Given the description of an element on the screen output the (x, y) to click on. 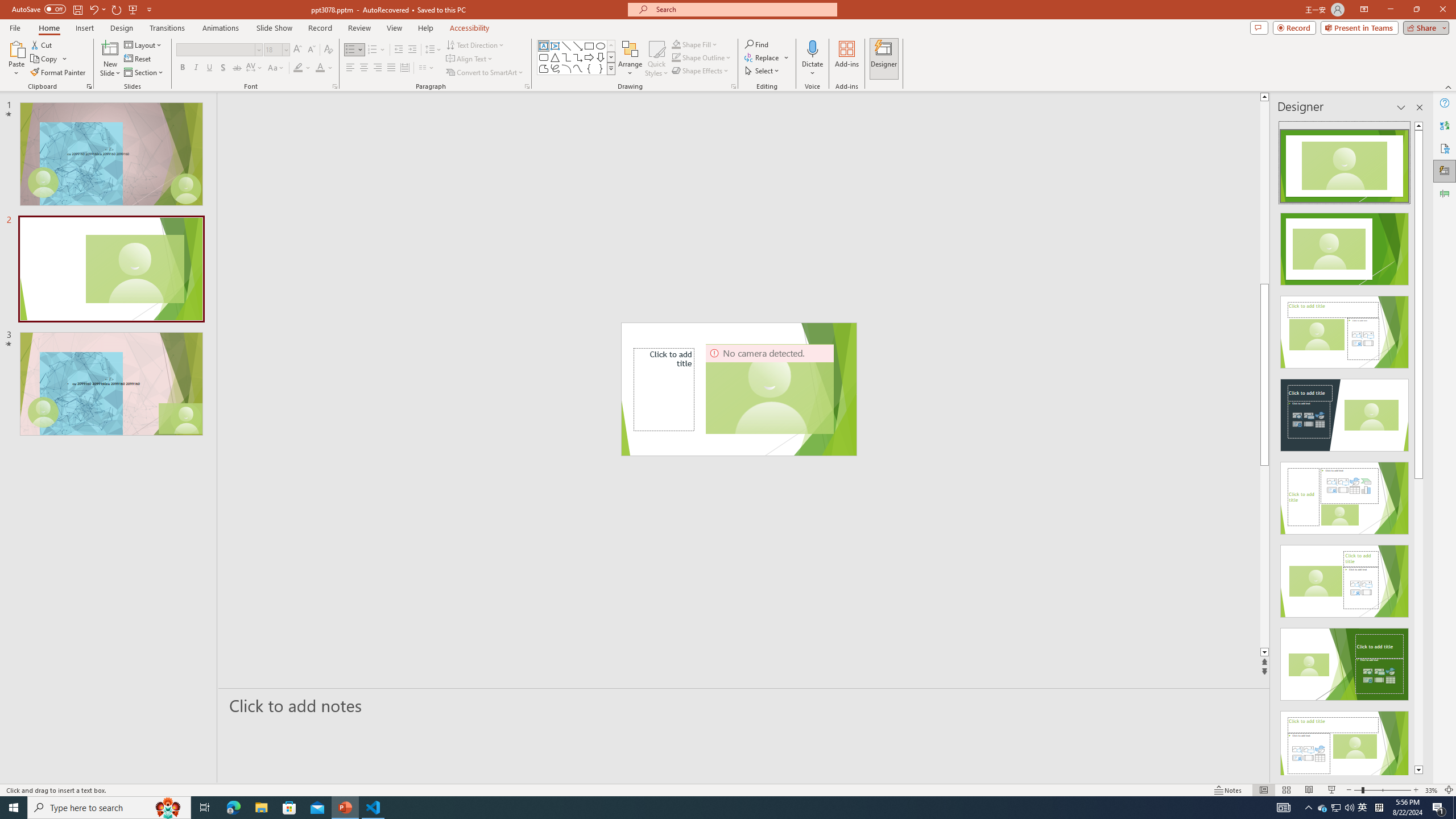
Shape Effects (700, 69)
Title TextBox (663, 389)
